Given the description of an element on the screen output the (x, y) to click on. 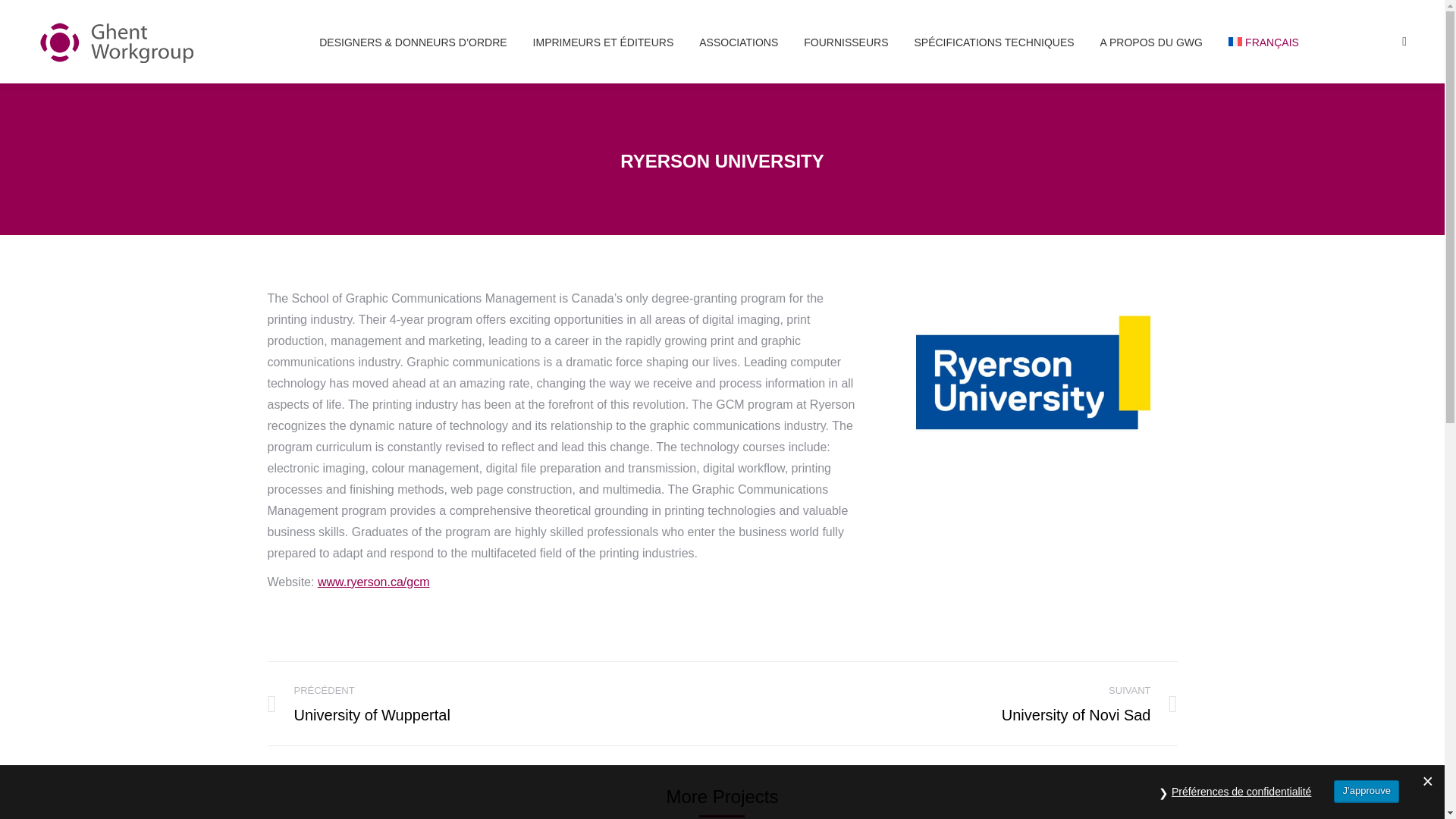
ASSOCIATIONS (738, 41)
A PROPOS DU GWG (1150, 41)
FOURNISSEURS (845, 41)
